Given the description of an element on the screen output the (x, y) to click on. 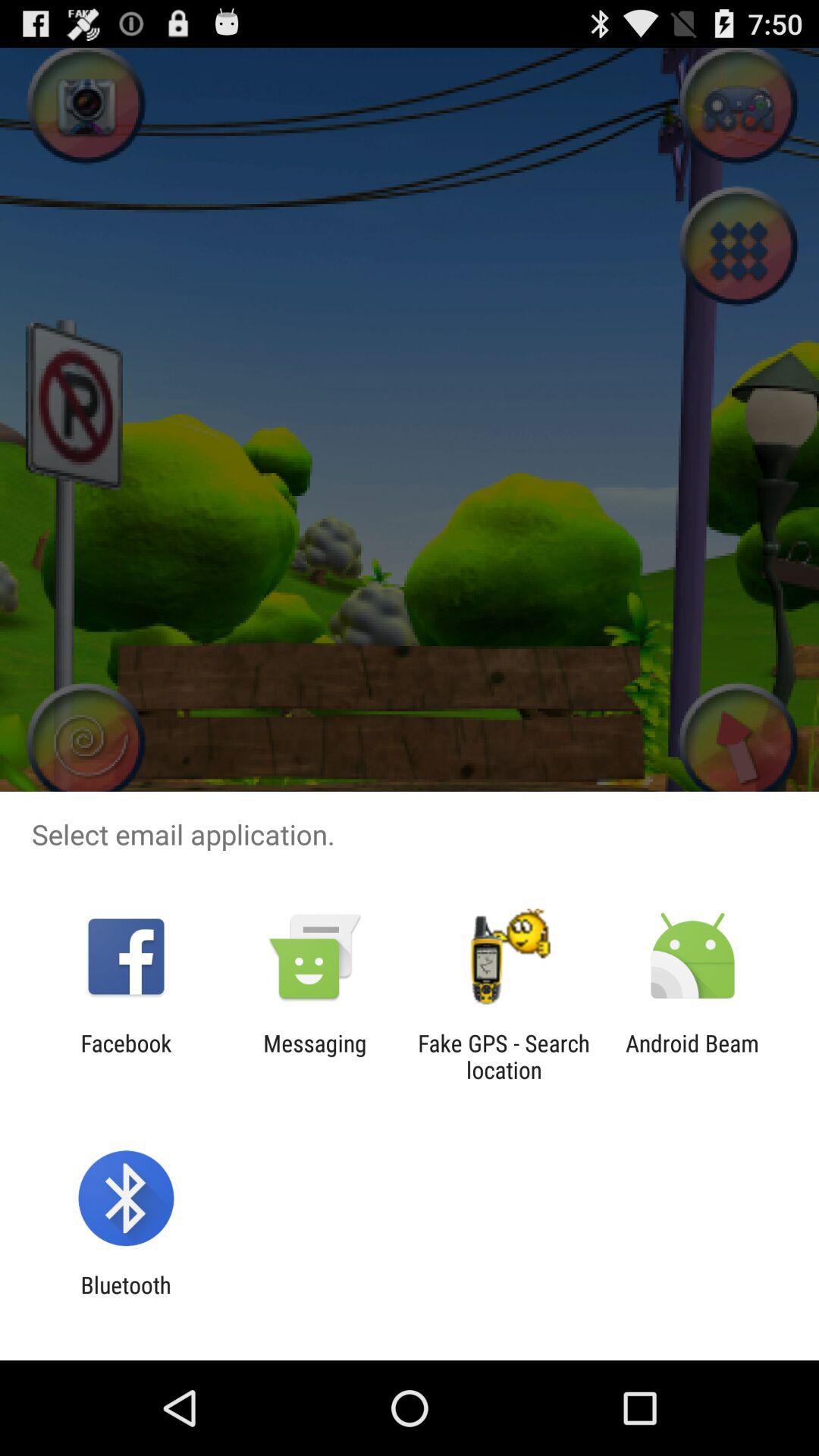
flip to the messaging item (314, 1056)
